Given the description of an element on the screen output the (x, y) to click on. 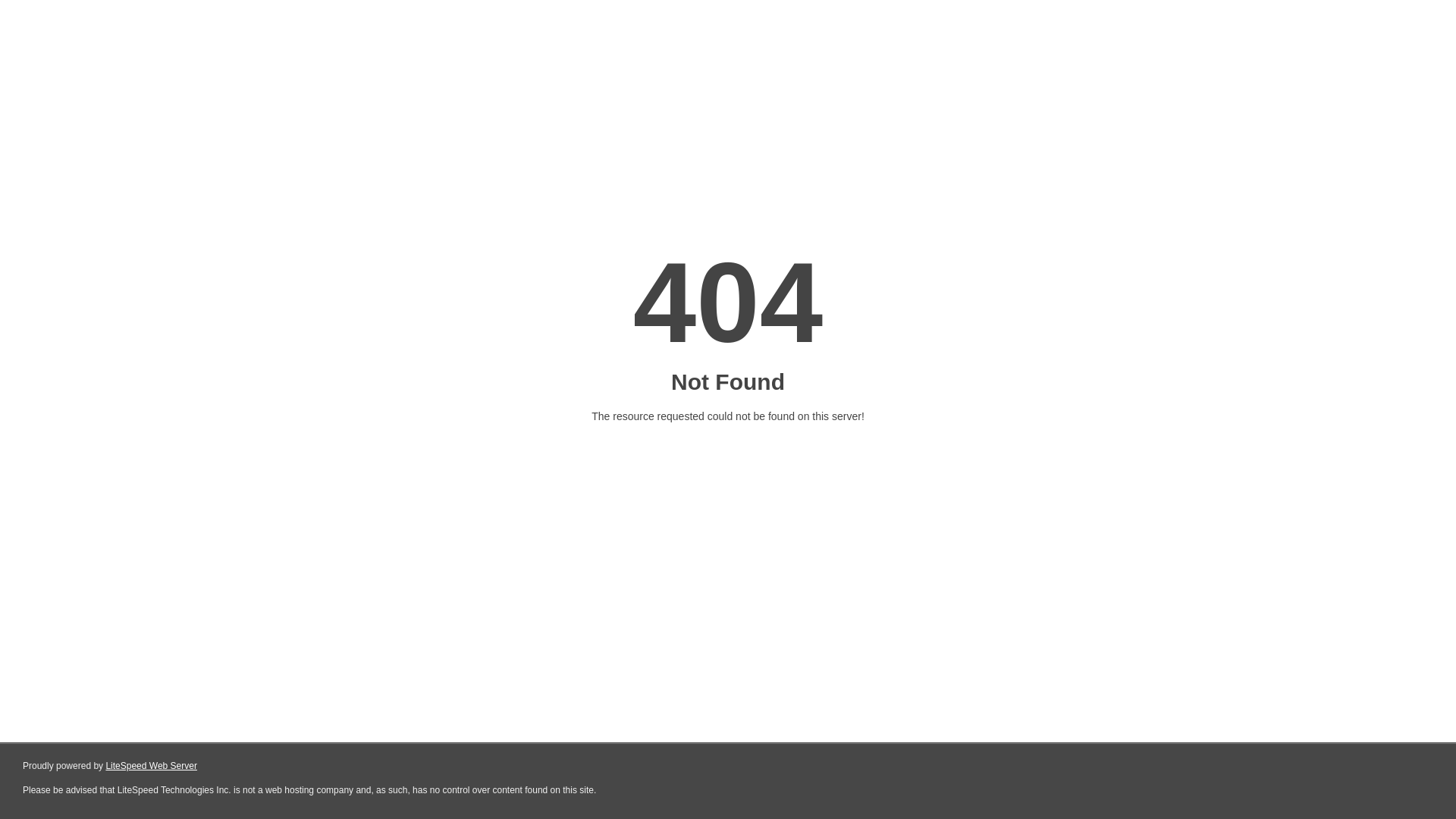
LiteSpeed Web Server Element type: text (151, 765)
